Given the description of an element on the screen output the (x, y) to click on. 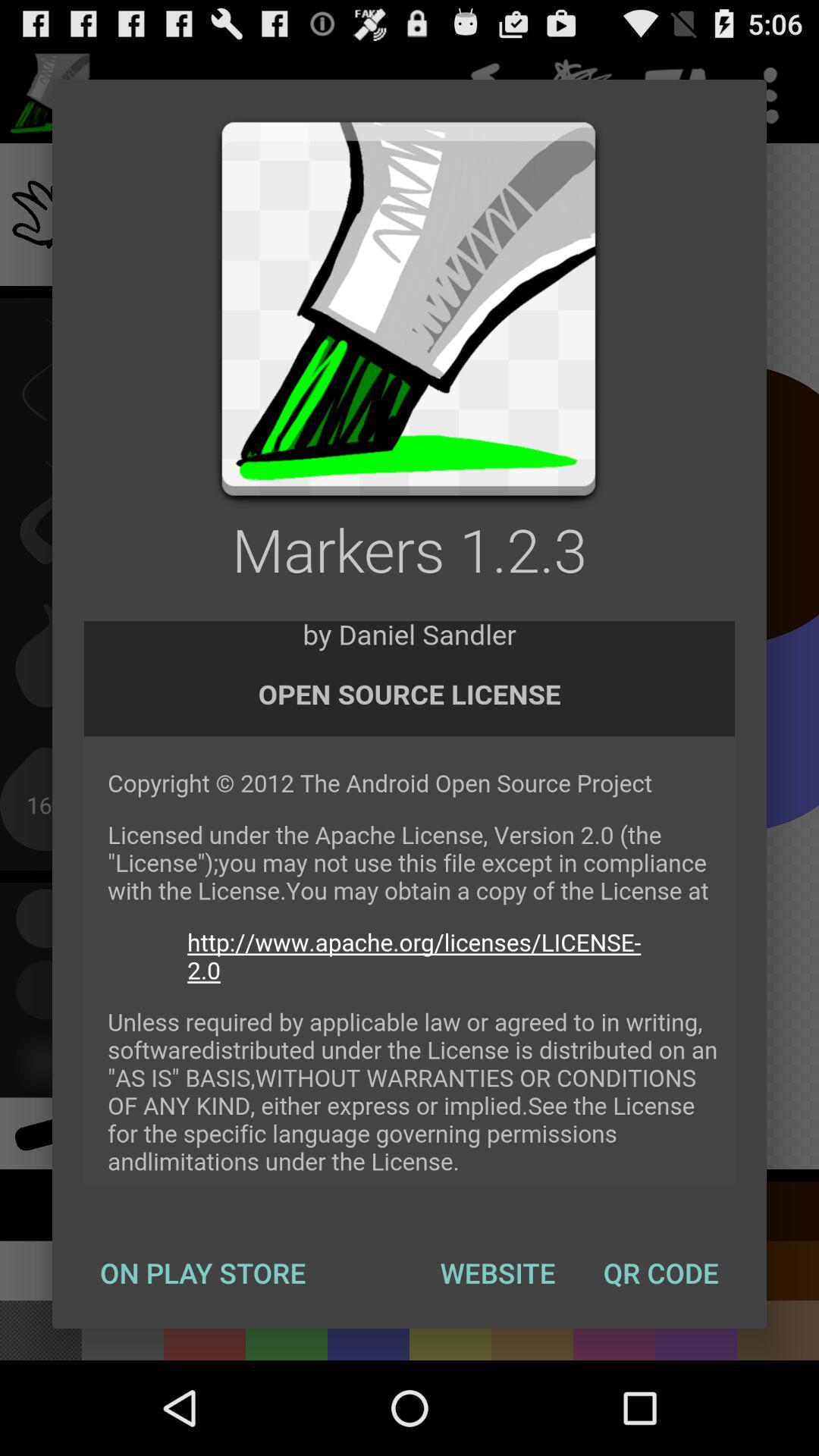
permissions for using app (409, 903)
